Given the description of an element on the screen output the (x, y) to click on. 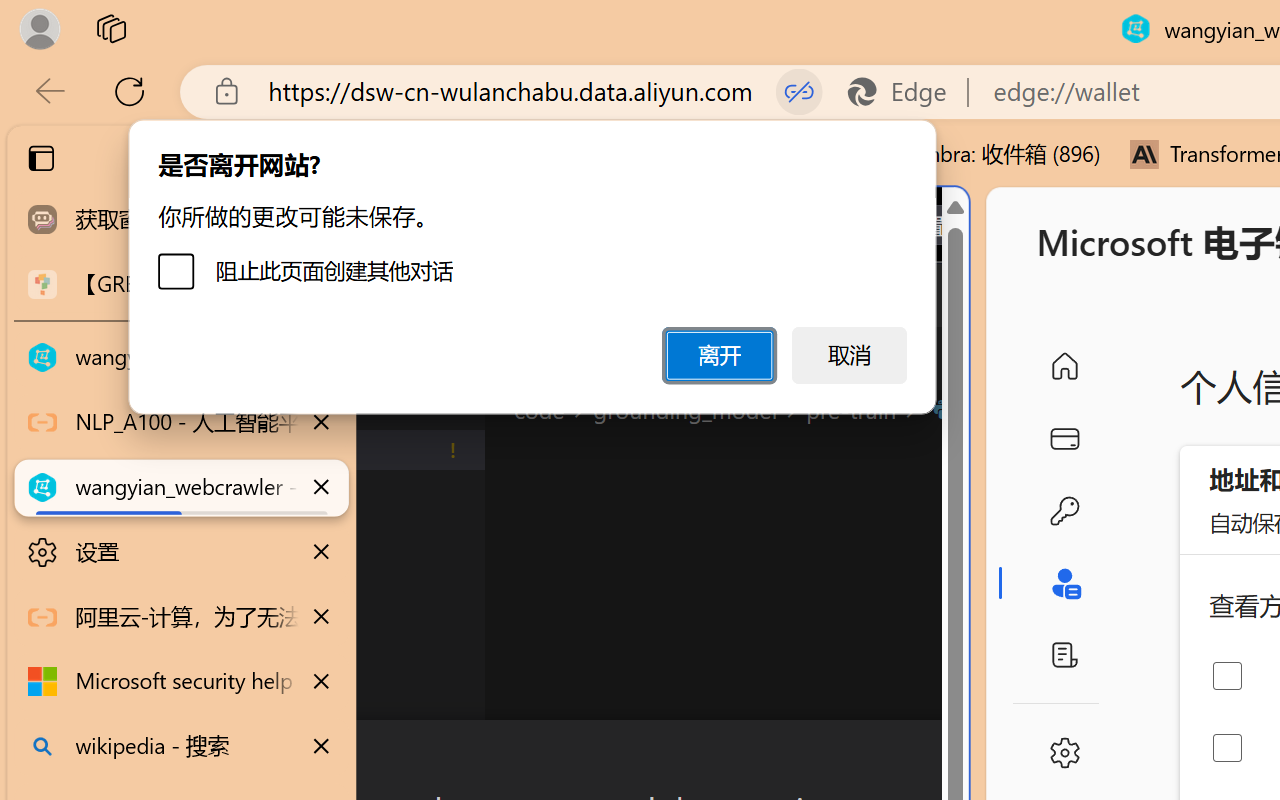
Class: actions-container (529, 756)
Microsoft security help and learning (181, 681)
Close Dialog (959, 756)
